Given the description of an element on the screen output the (x, y) to click on. 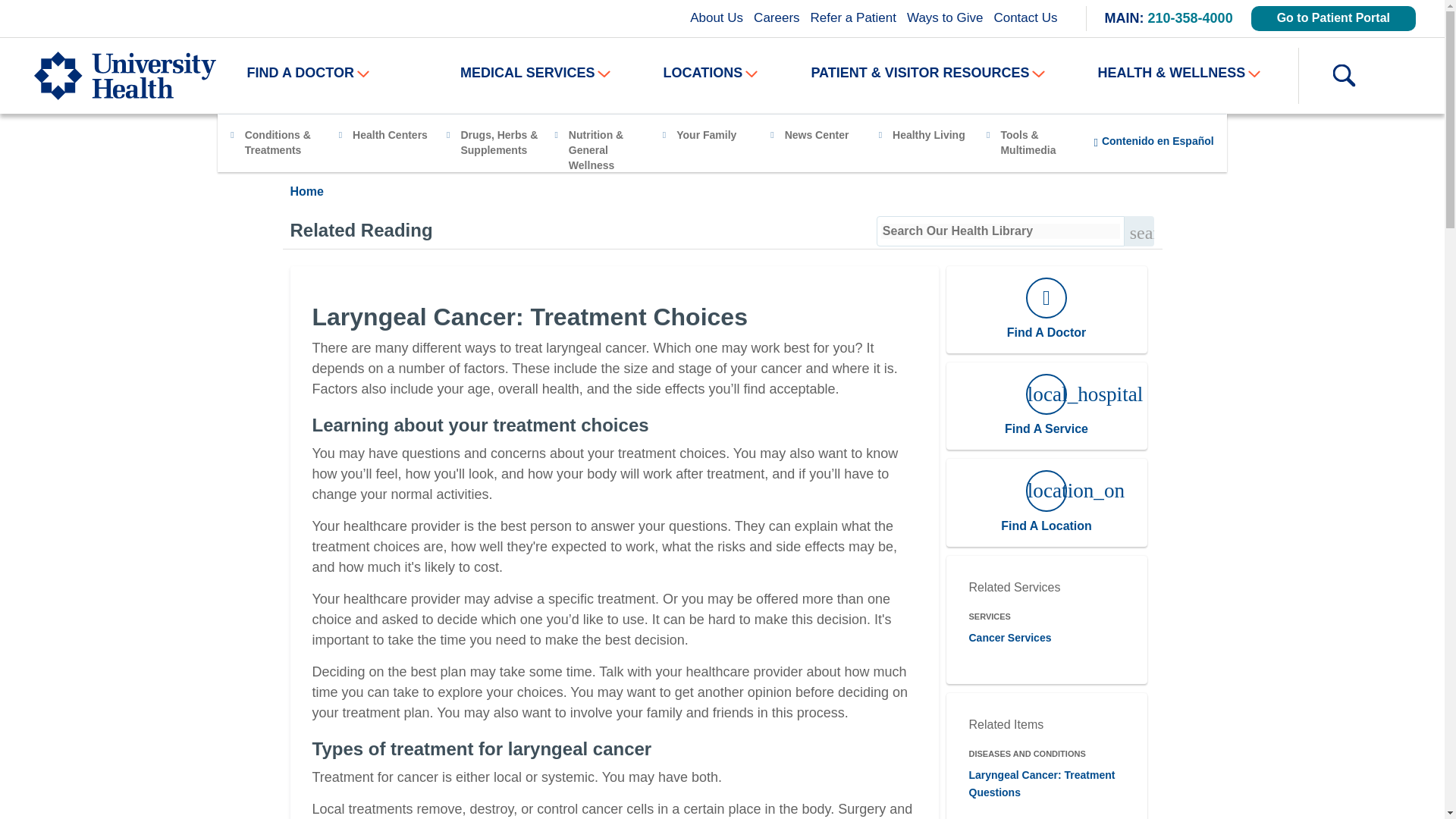
MEDICAL SERVICES (534, 72)
LOCATIONS (710, 72)
Main Phone Number (1190, 17)
Go to Patient Portal (1332, 18)
Ways to Give (944, 17)
About Us (716, 17)
Careers (776, 17)
Refer a Patient (853, 17)
Ways to Give (944, 17)
210-358-4000 (1190, 17)
Go to Patient Portal (1332, 18)
Refer a Patient (853, 17)
Find a Doctor (308, 72)
Careers (776, 17)
About Us (716, 17)
